Given the description of an element on the screen output the (x, y) to click on. 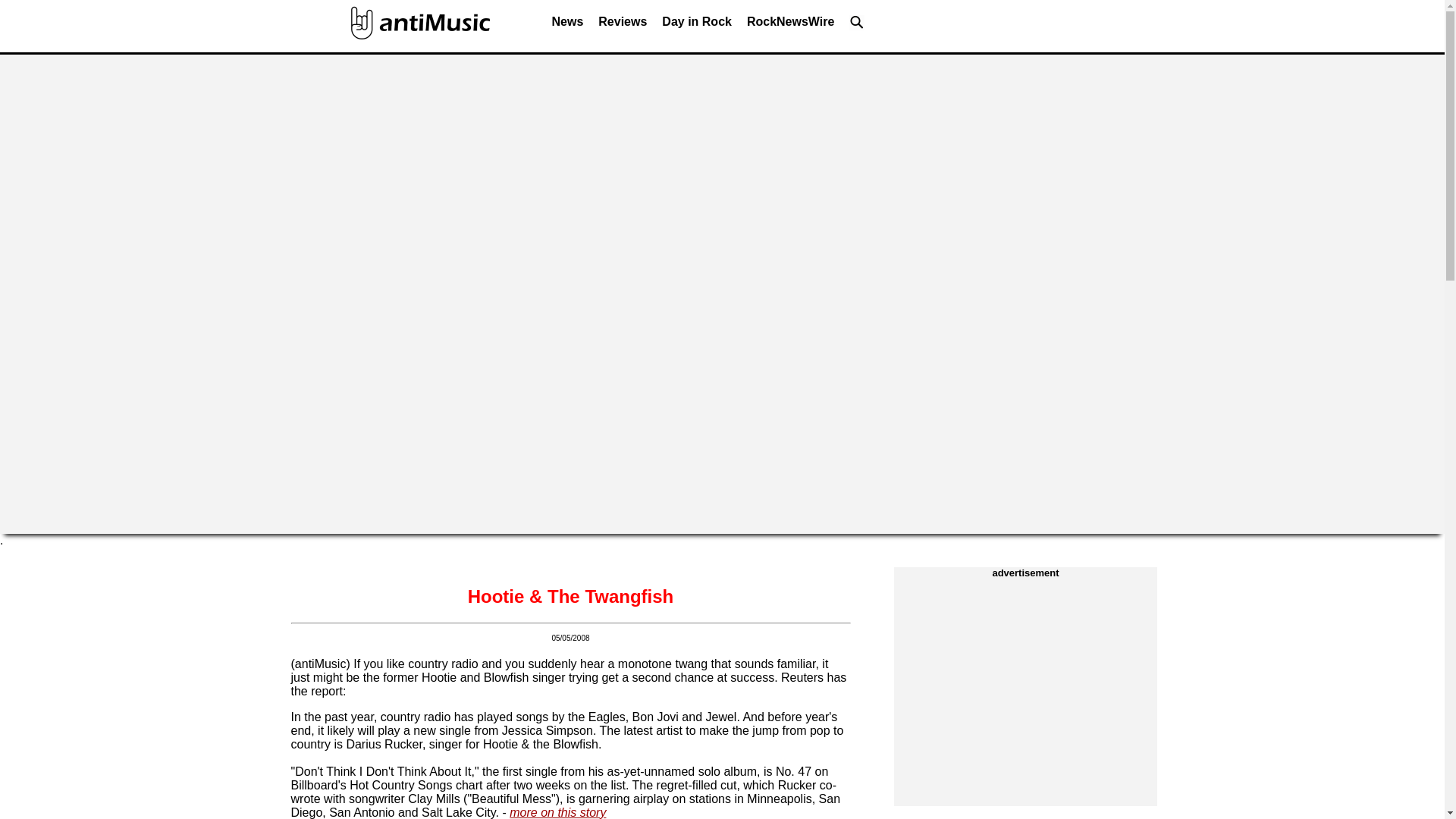
more on this story (557, 812)
RockNewsWire (790, 26)
News (567, 26)
Day in Rock (696, 26)
Reviews (622, 26)
